Given the description of an element on the screen output the (x, y) to click on. 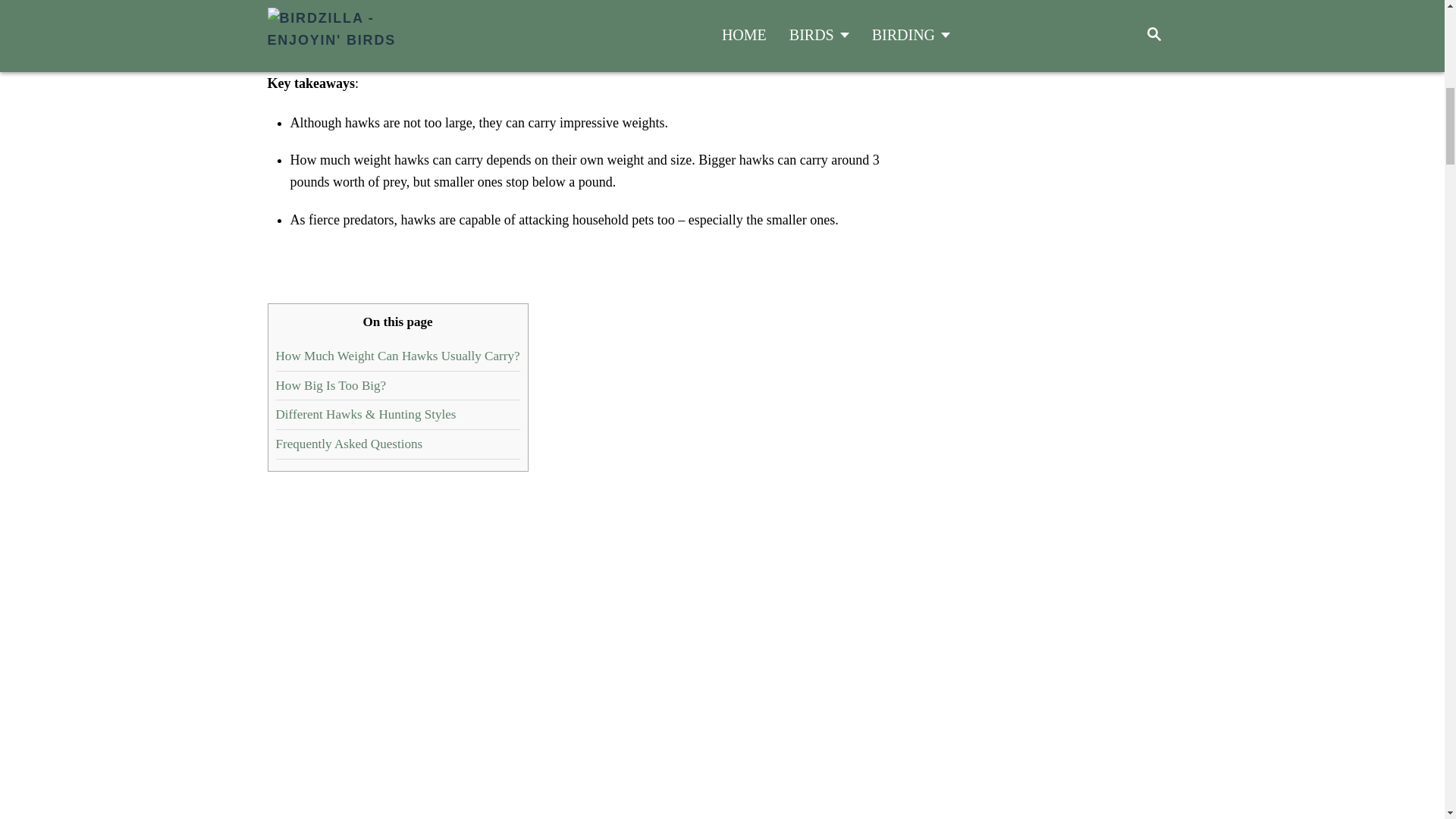
How Big Is Too Big? (331, 385)
Frequently Asked Questions (349, 443)
How Much Weight Can Hawks Usually Carry? (397, 355)
